Given the description of an element on the screen output the (x, y) to click on. 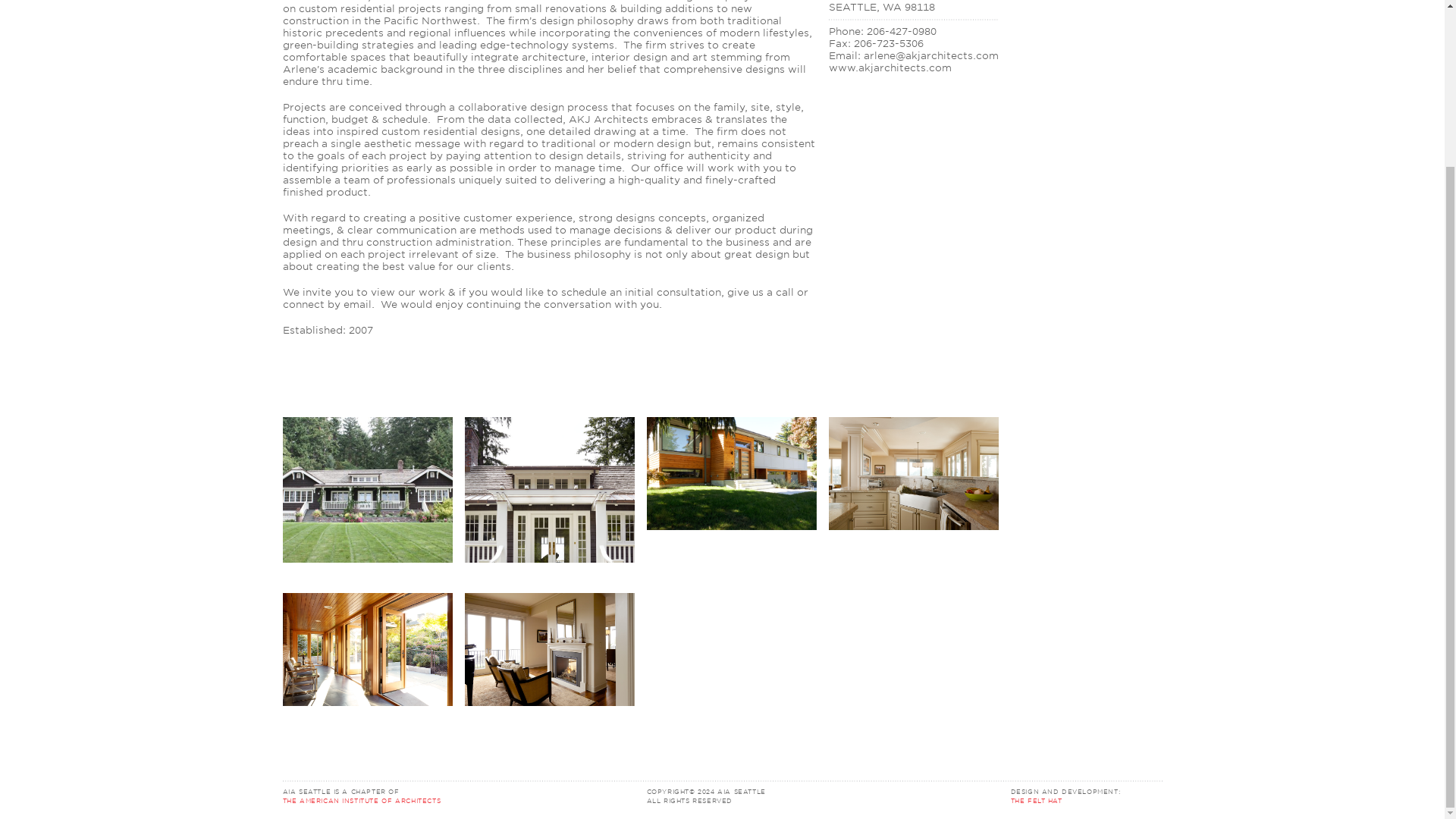
roberson11686 (366, 665)
The Felt Hat (1035, 800)
trimble11483 (912, 489)
The American Institue of Architects (454, 796)
AIA Seattle (731, 791)
trimble11399 (548, 665)
